Given the description of an element on the screen output the (x, y) to click on. 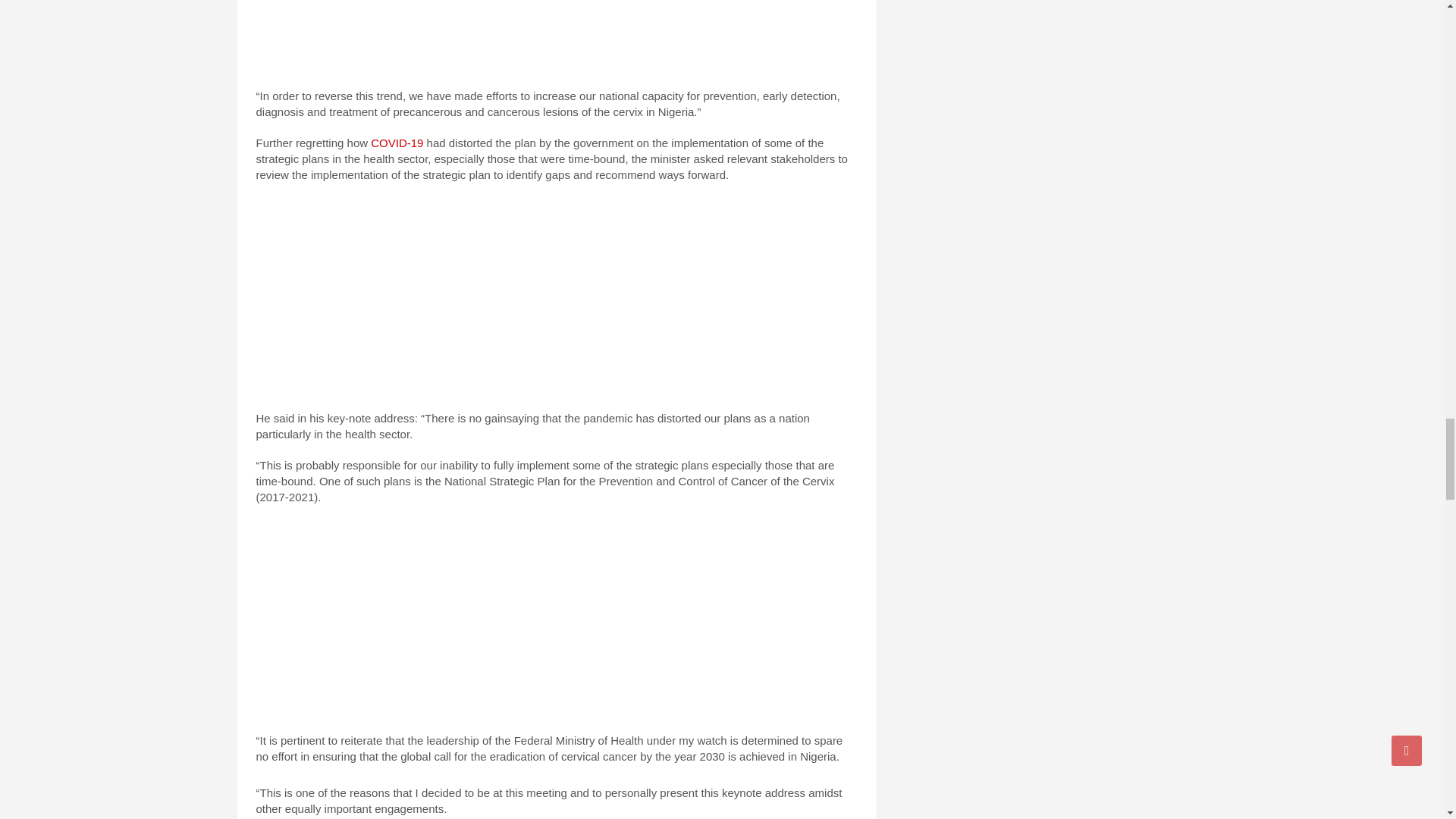
COVID-19 (397, 142)
